Given the description of an element on the screen output the (x, y) to click on. 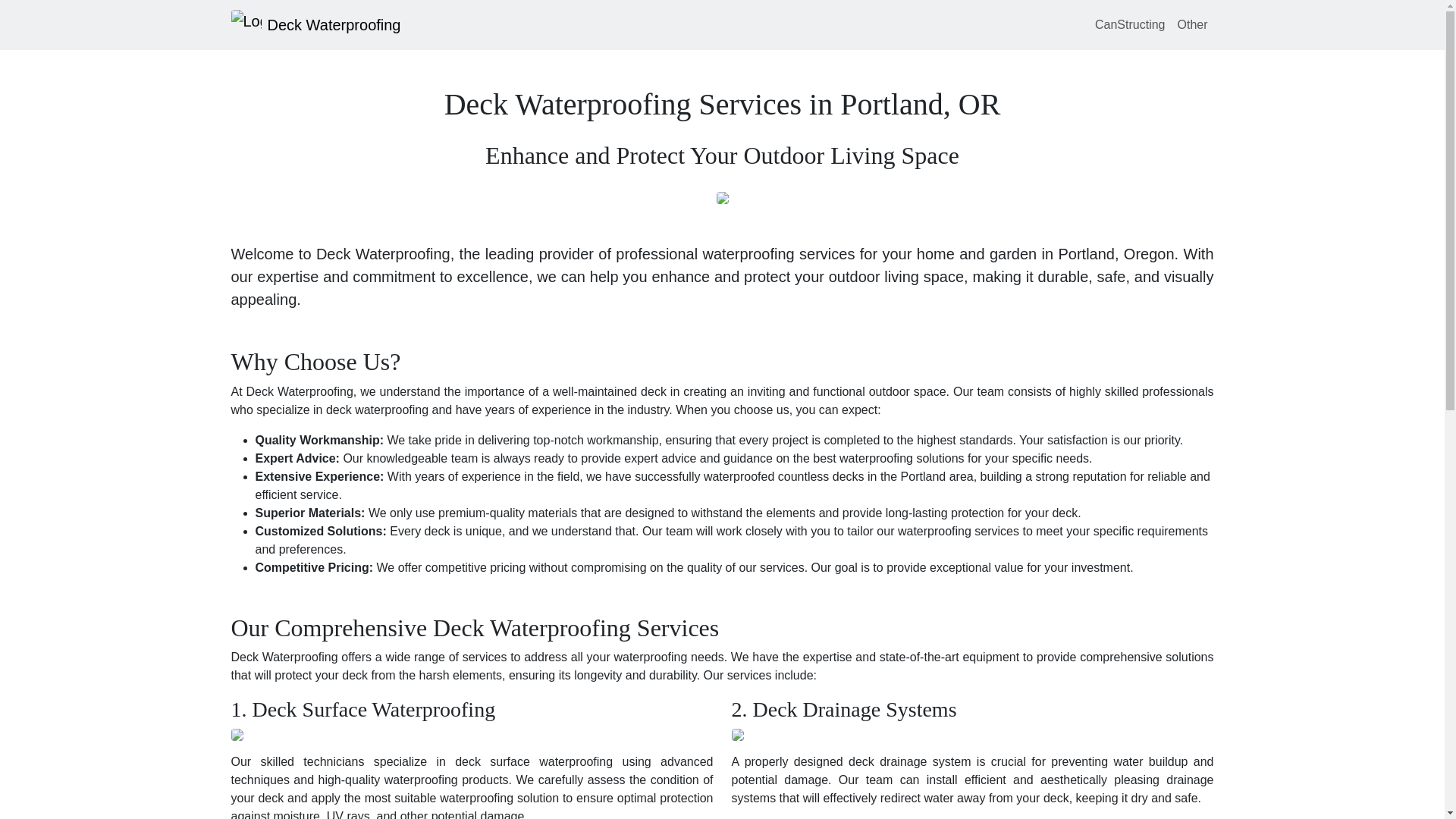
Deck Waterproofing (315, 24)
CanStructing (1130, 24)
Other (1191, 24)
